Given the description of an element on the screen output the (x, y) to click on. 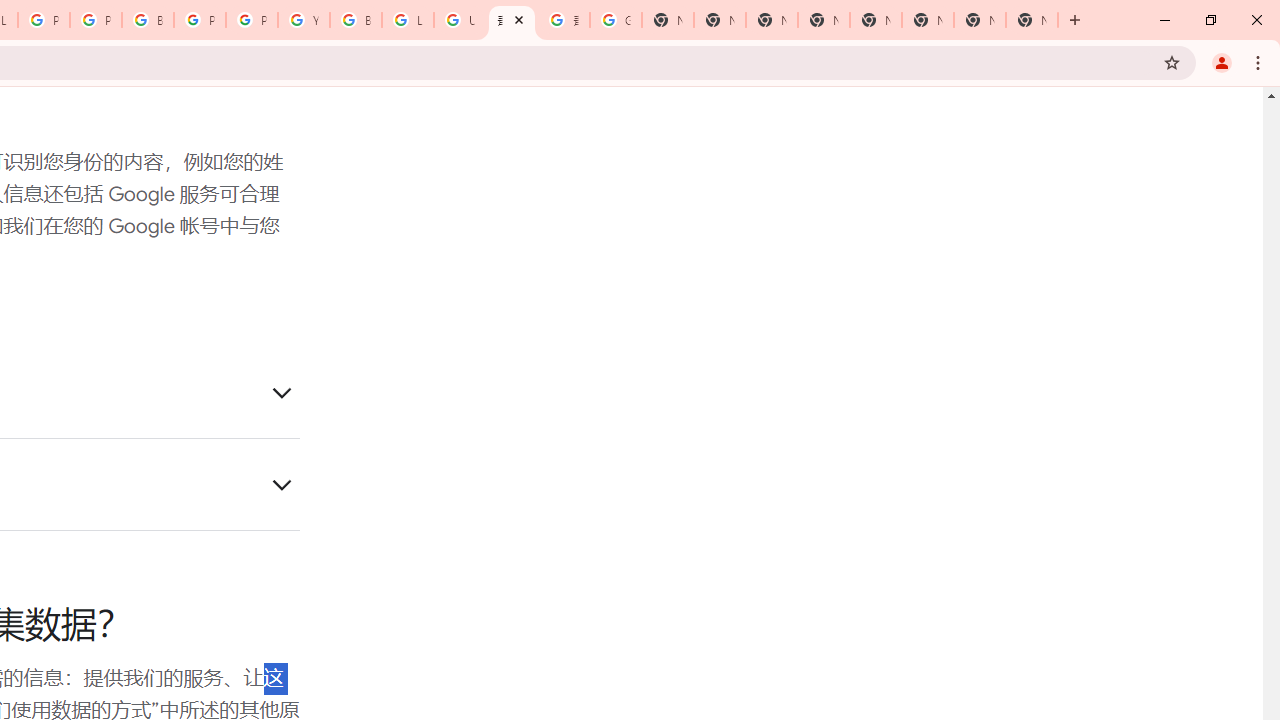
New Tab (1032, 20)
